Given the description of an element on the screen output the (x, y) to click on. 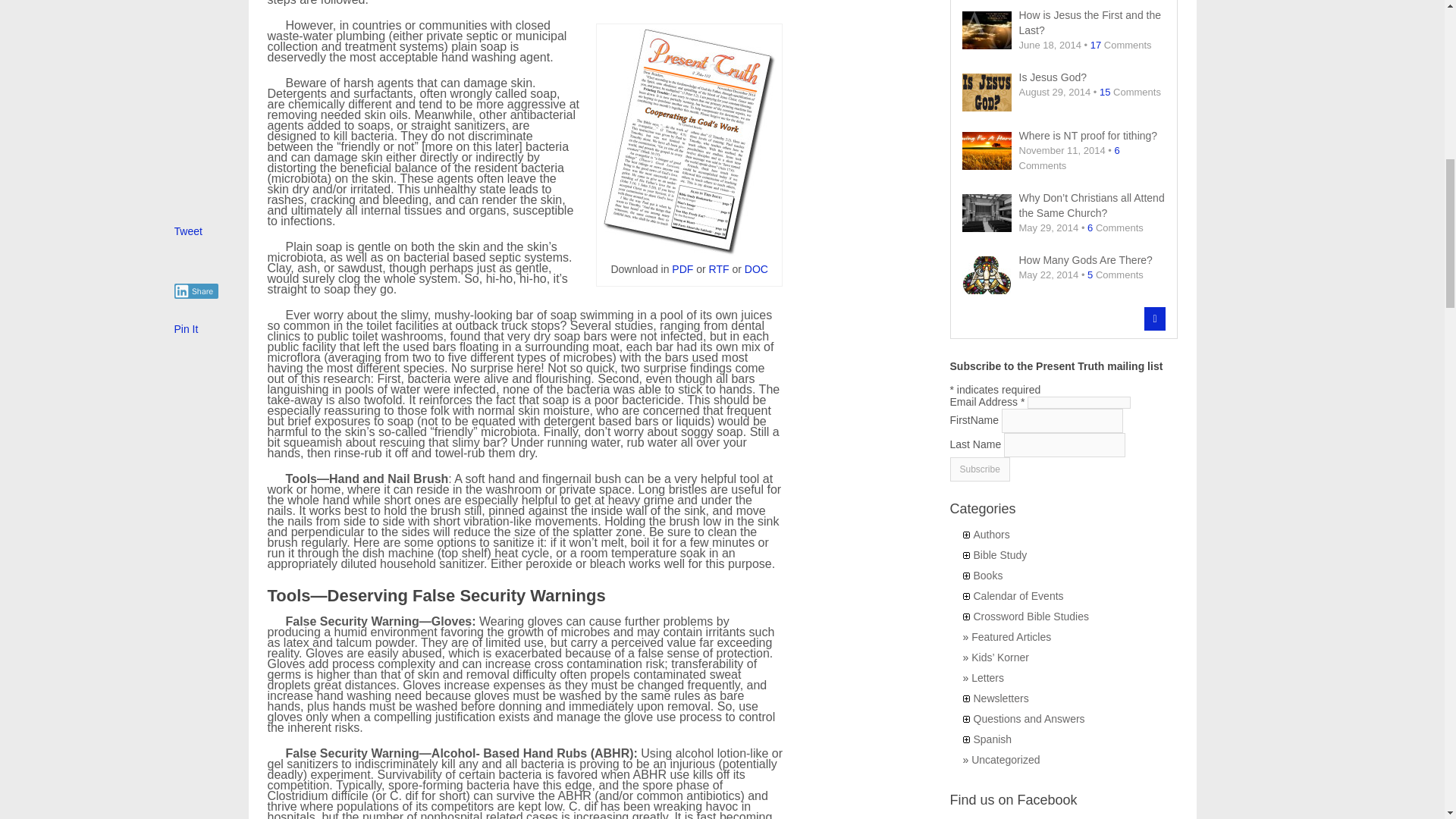
How Many Gods Are There? (1062, 267)
How is Jesus the First and the Last? (1062, 30)
Subscribe (979, 469)
Is Jesus God? (1062, 84)
View all posts filed under Authors (992, 534)
Where is NT proof for tithing? (1062, 150)
